Given the description of an element on the screen output the (x, y) to click on. 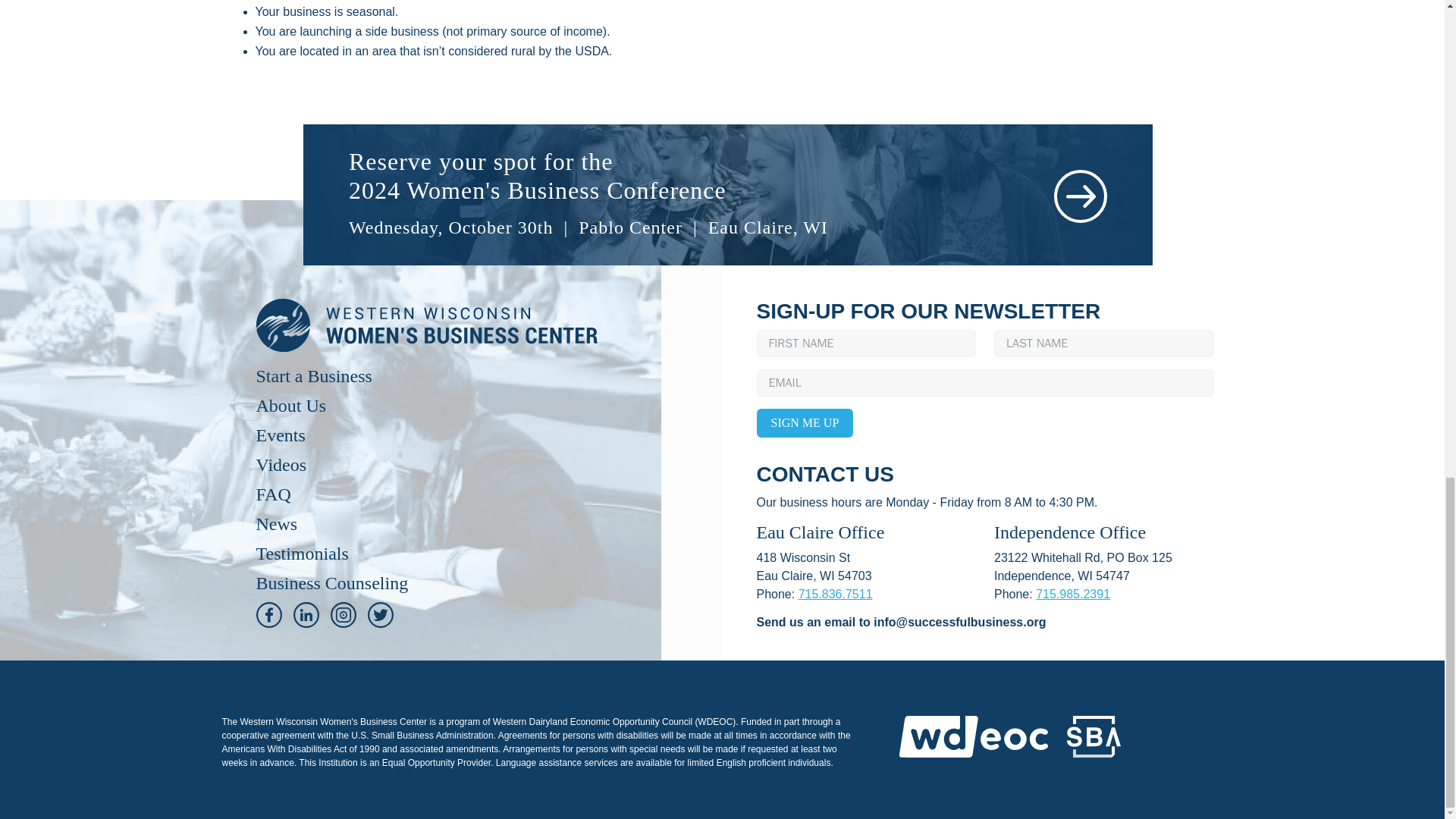
715.985.2391 (1072, 594)
Events (280, 434)
Business Counseling (332, 583)
Videos (281, 464)
715.836.7511 (834, 594)
FAQ (273, 494)
SIGN ME UP (805, 422)
Testimonials (302, 553)
News (277, 524)
